Given the description of an element on the screen output the (x, y) to click on. 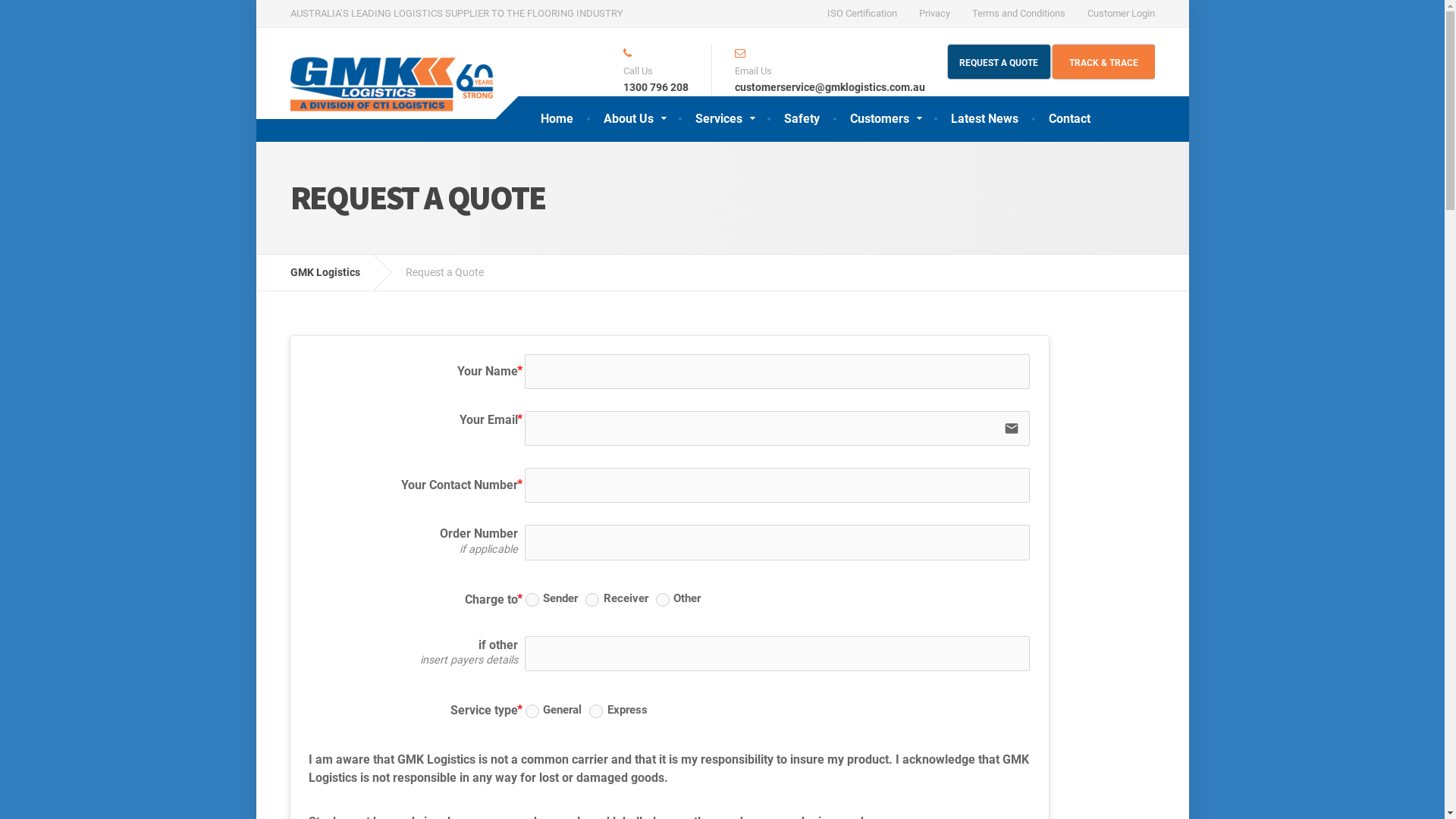
REQUEST A QUOTE Element type: text (998, 61)
About Us Element type: text (634, 118)
Customer Login Element type: text (1115, 13)
TRACK & TRACE Element type: text (1103, 61)
Services Element type: text (723, 118)
Customers Element type: text (884, 118)
Contact Element type: text (1068, 118)
Latest News Element type: text (984, 118)
Email Us
customerservice@gmklogistics.com.au Element type: text (818, 69)
Terms and Conditions Element type: text (1017, 13)
ISO Certification Element type: text (861, 13)
Privacy Element type: text (933, 13)
GMK Logistics Element type: text (335, 271)
Safety Element type: text (801, 118)
Home Element type: text (555, 118)
